Given the description of an element on the screen output the (x, y) to click on. 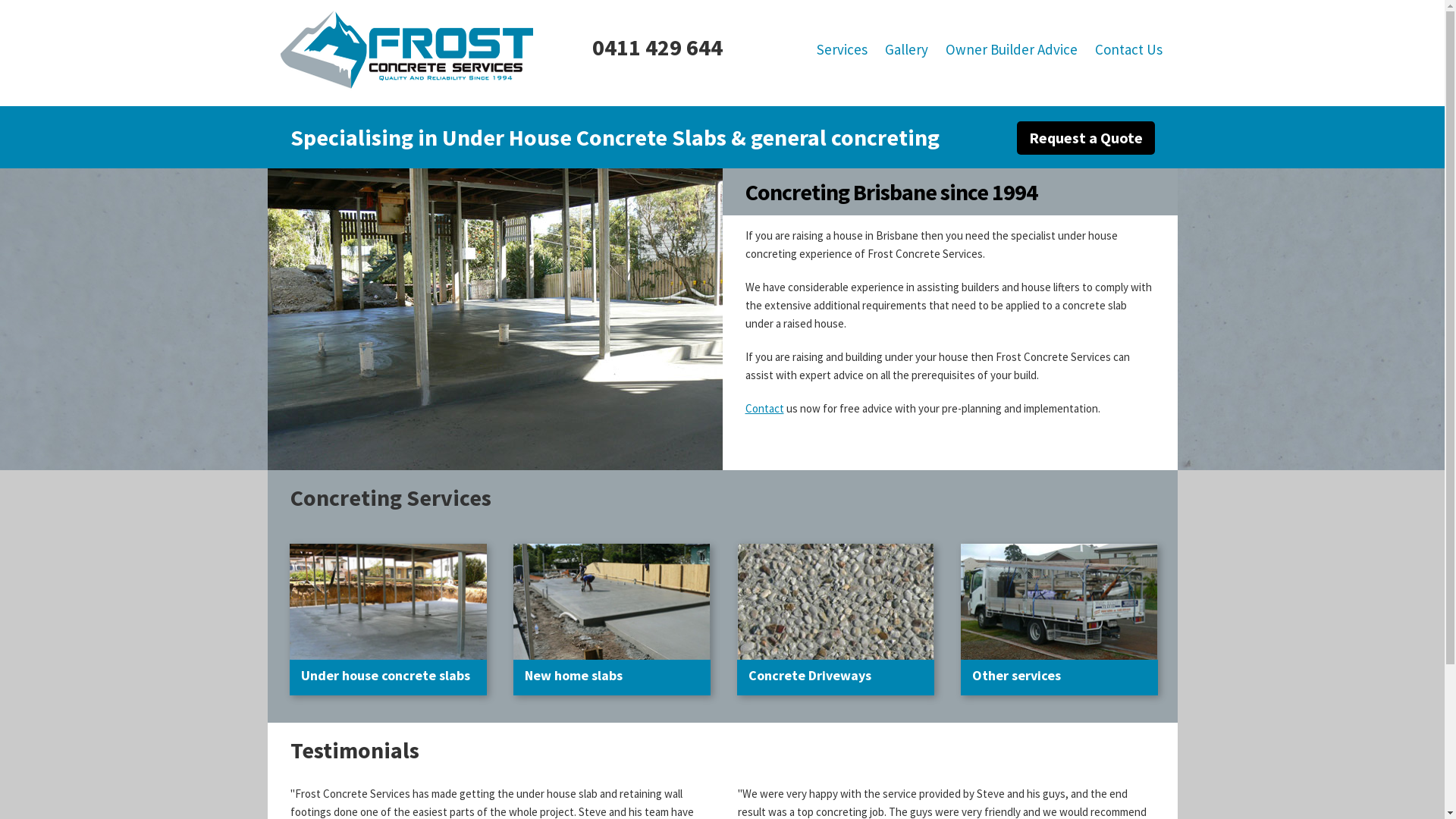
Services Element type: text (841, 49)
Contact Us Element type: text (1128, 49)
Owner Builder Advice Element type: text (1010, 49)
Concrete Driveways Element type: text (840, 666)
Under house concrete slabs Element type: text (393, 666)
Other services Element type: text (1064, 666)
Contact Element type: text (763, 408)
New home slabs Element type: text (617, 666)
Gallery Element type: text (905, 49)
Request a Quote Element type: text (1085, 137)
